Given the description of an element on the screen output the (x, y) to click on. 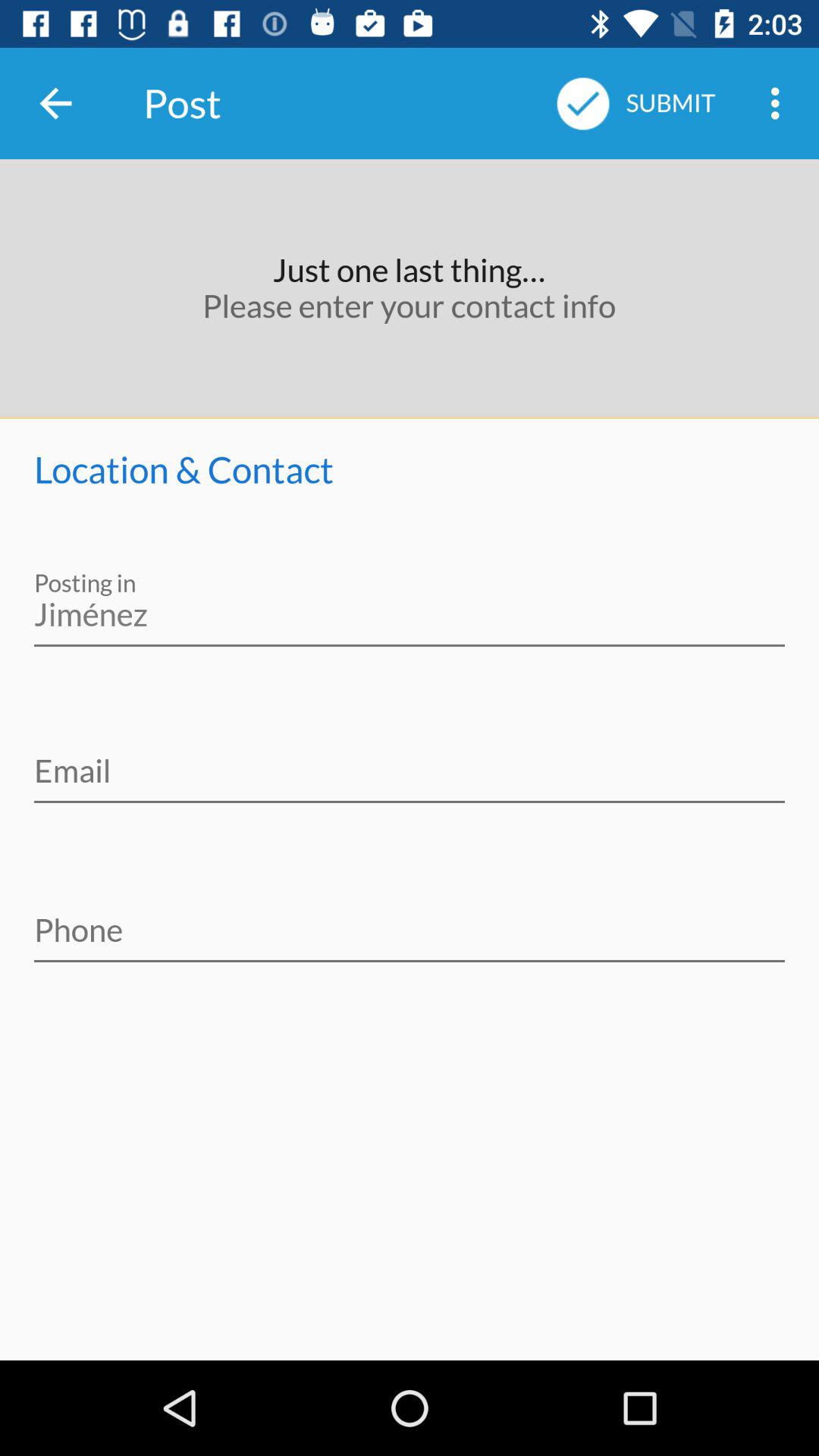
go to email (409, 760)
